Given the description of an element on the screen output the (x, y) to click on. 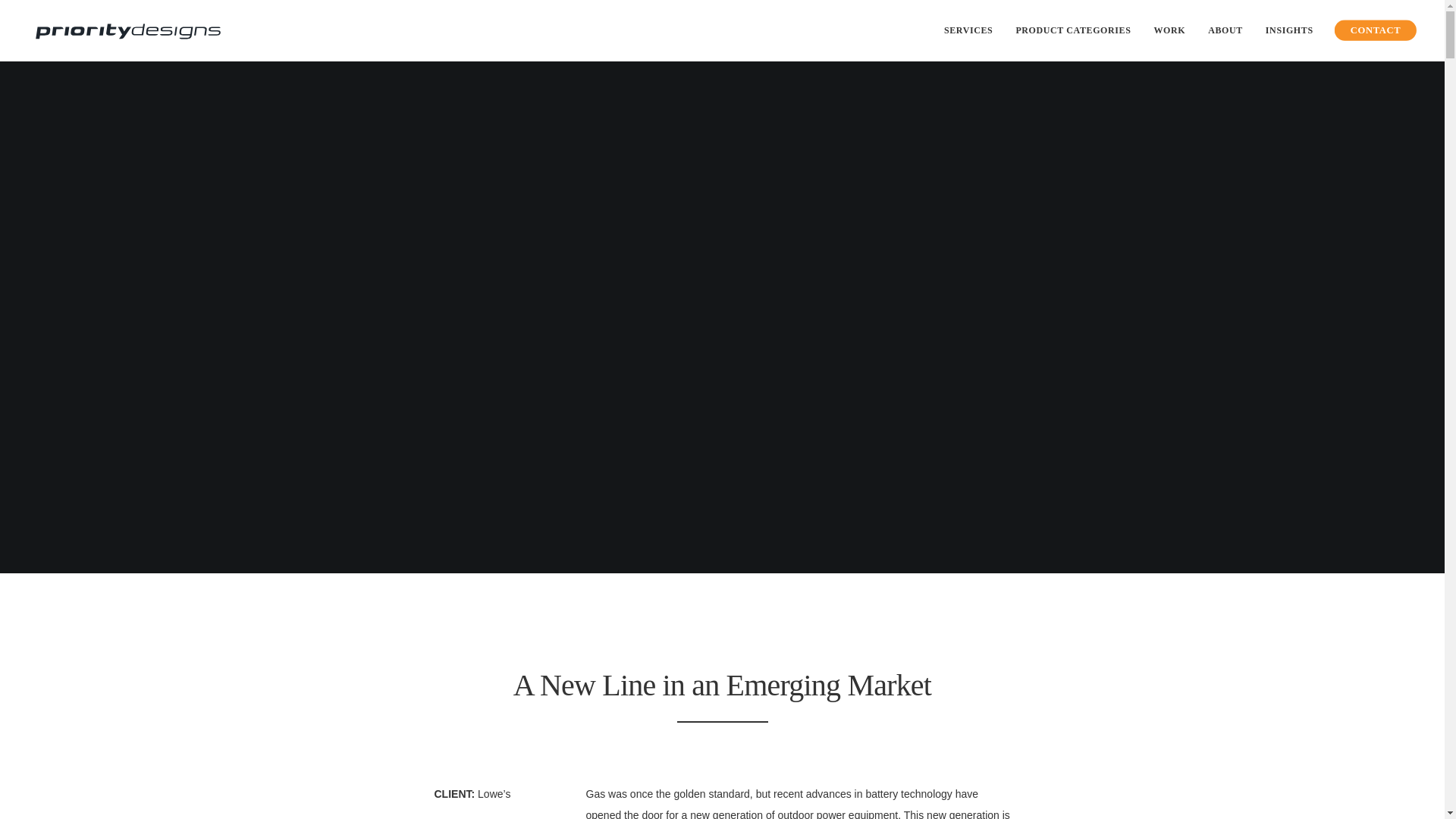
WORK (1168, 30)
PRODUCT CATEGORIES (1072, 30)
SERVICES (968, 30)
ABOUT (1224, 30)
INSIGHTS (1288, 30)
CONTACT (1367, 29)
